Given the description of an element on the screen output the (x, y) to click on. 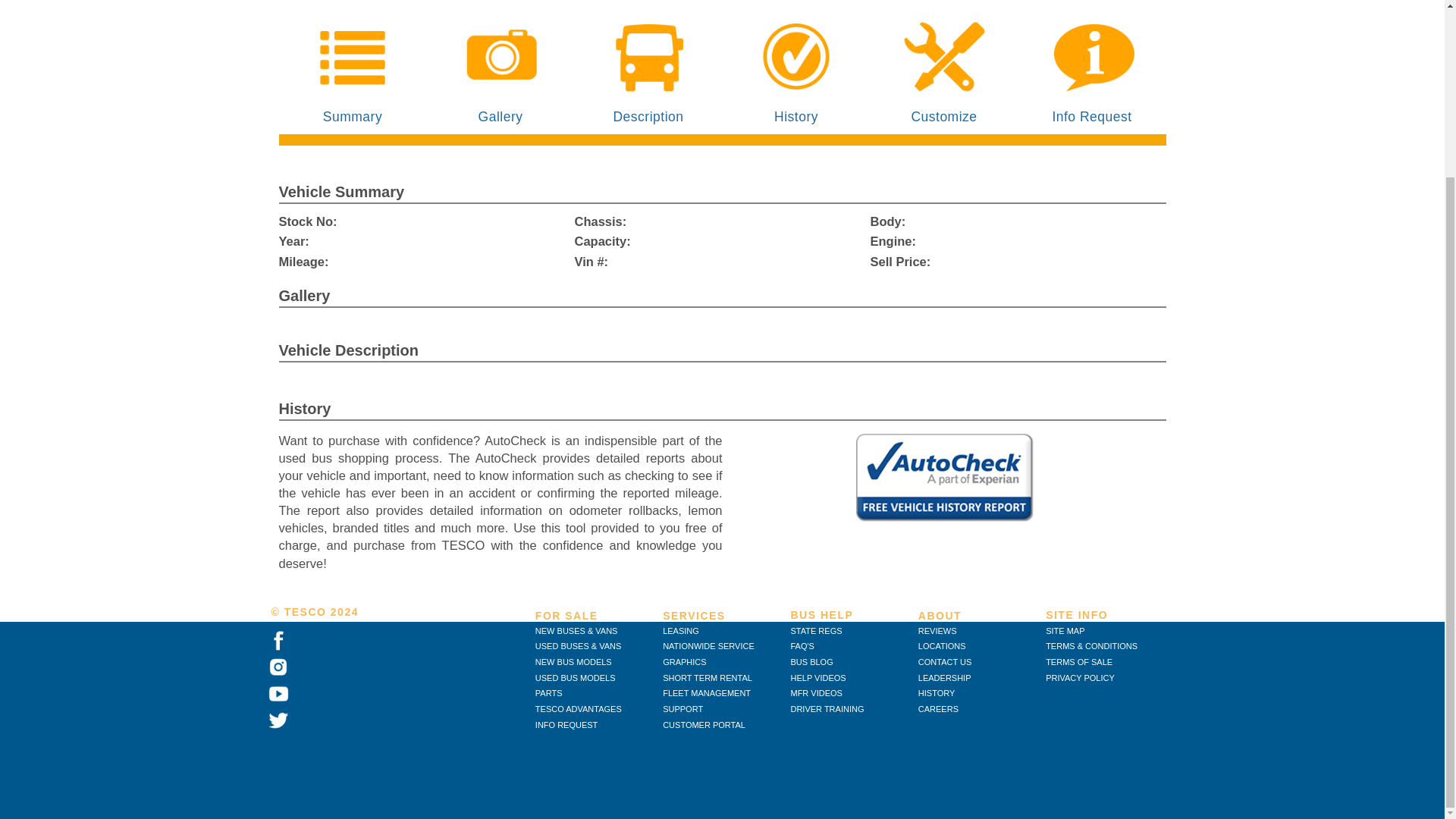
Description (648, 70)
History (795, 70)
Gallery (499, 70)
Summary (352, 70)
